Given the description of an element on the screen output the (x, y) to click on. 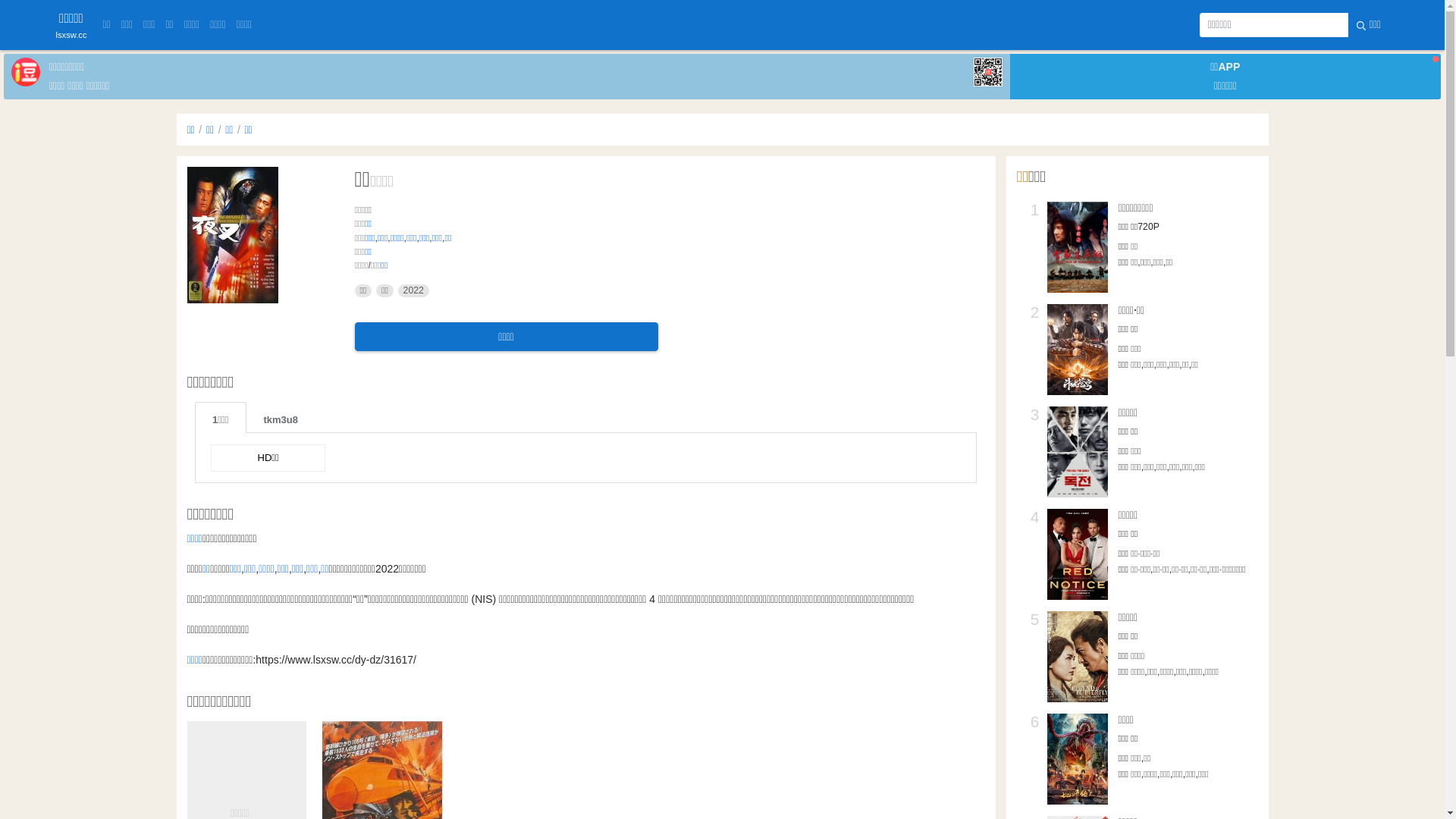
tkm3u8 Element type: text (280, 417)
2022 Element type: text (413, 290)
